Given the description of an element on the screen output the (x, y) to click on. 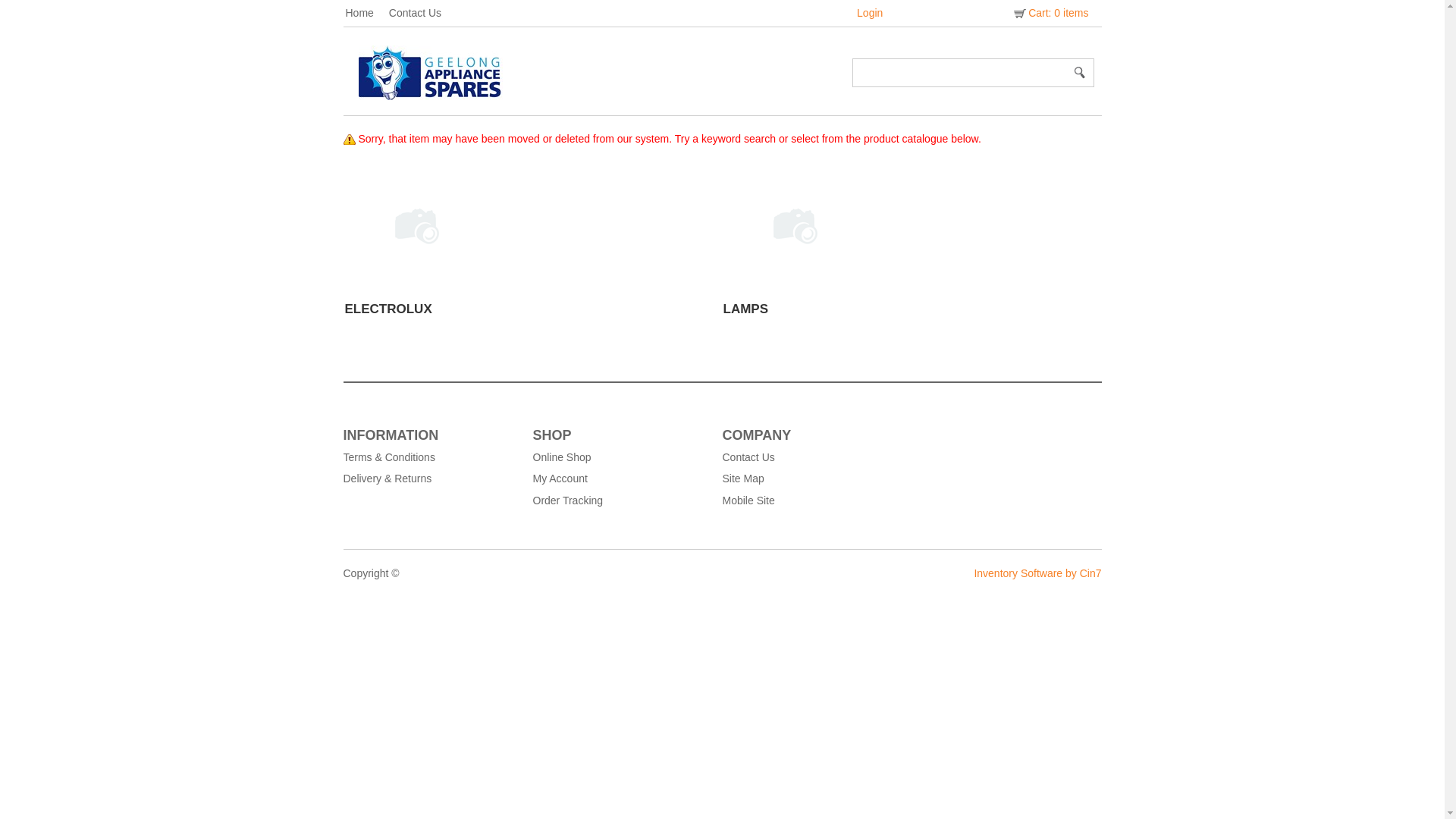
LAMPS Element type: text (745, 308)
Contact Us Element type: text (422, 12)
Site Map Element type: text (808, 478)
Home Element type: text (367, 12)
Delivery & Returns Element type: text (429, 478)
Search Products... Element type: hover (960, 72)
Terms & Conditions Element type: text (429, 456)
Order Tracking Element type: text (619, 500)
ELECTROLUX Element type: text (387, 308)
Mobile Site Element type: text (808, 500)
My Account Element type: text (619, 478)
Online Shop Element type: text (619, 456)
Contact Us Element type: text (808, 456)
Login Element type: text (869, 12)
Cart: 0 items Element type: text (1049, 12)
Inventory Software by Cin7 Element type: text (1037, 573)
